Given the description of an element on the screen output the (x, y) to click on. 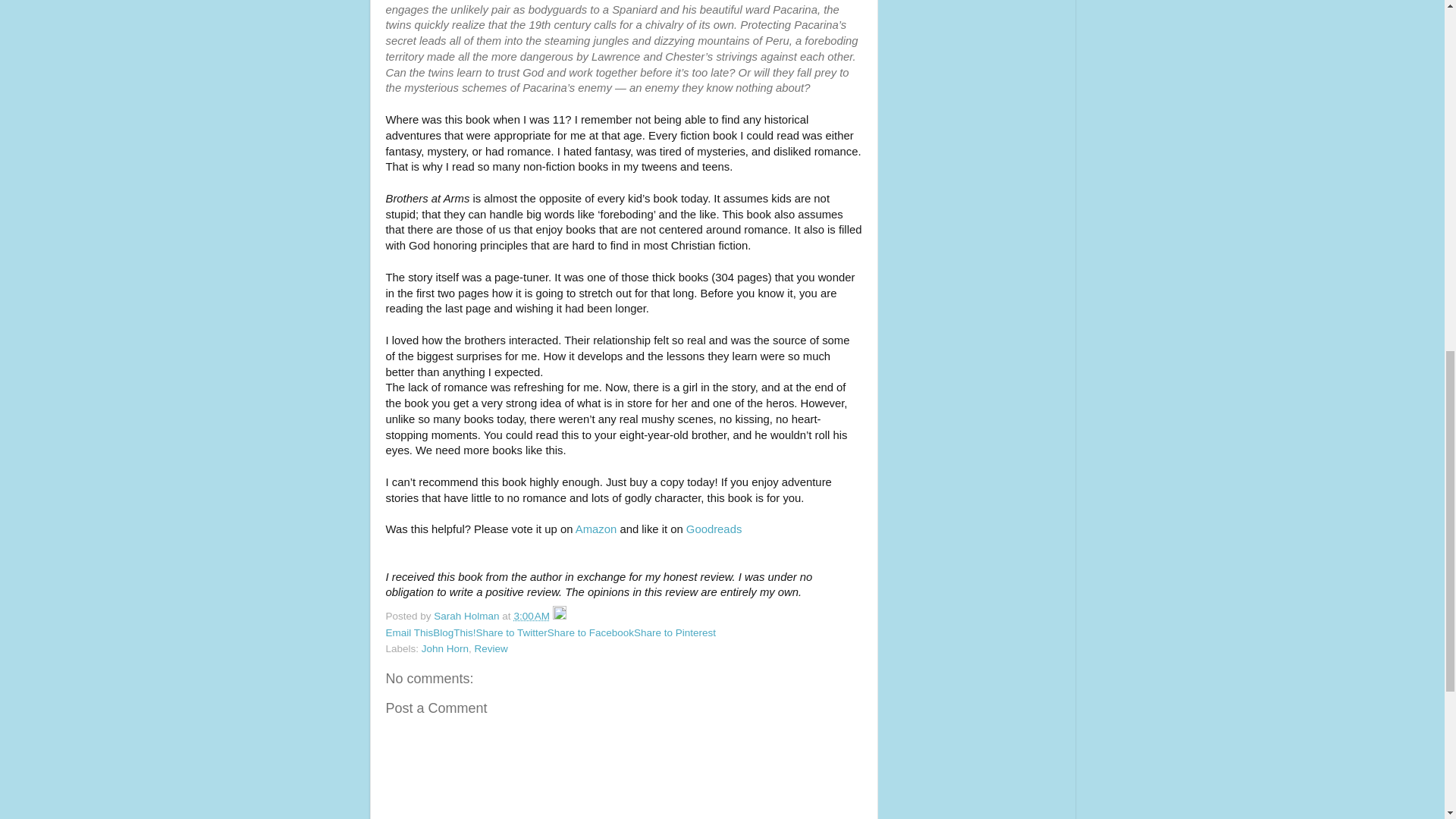
permanent link (531, 615)
Share to Facebook (590, 632)
Goodreads (713, 529)
Share to Facebook (590, 632)
Review (491, 648)
Share to Twitter (511, 632)
Share to Pinterest (674, 632)
BlogThis! (454, 632)
Amazon (595, 529)
Sarah Holman (467, 615)
